Given the description of an element on the screen output the (x, y) to click on. 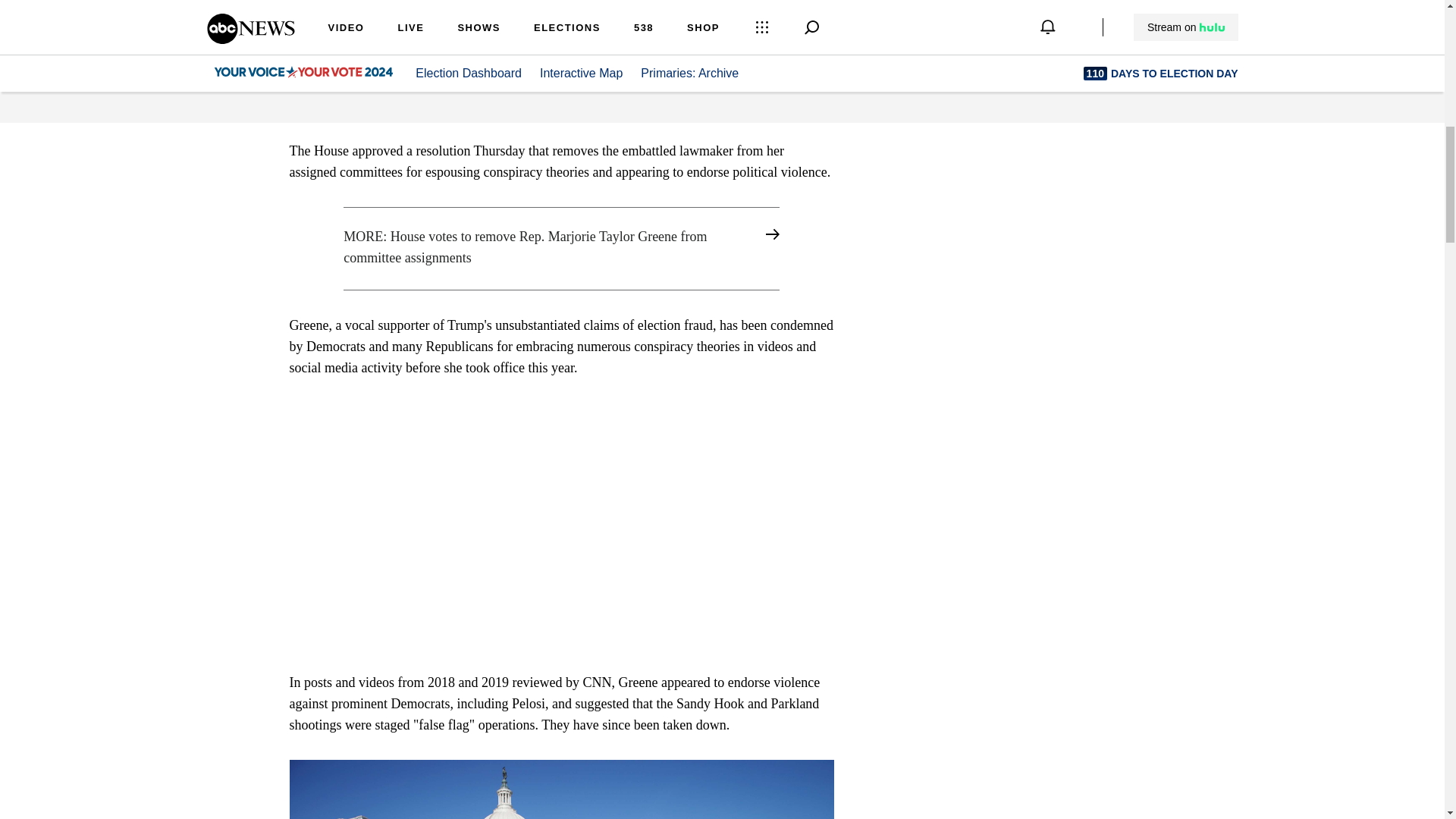
Joe Biden (534, 38)
